Given the description of an element on the screen output the (x, y) to click on. 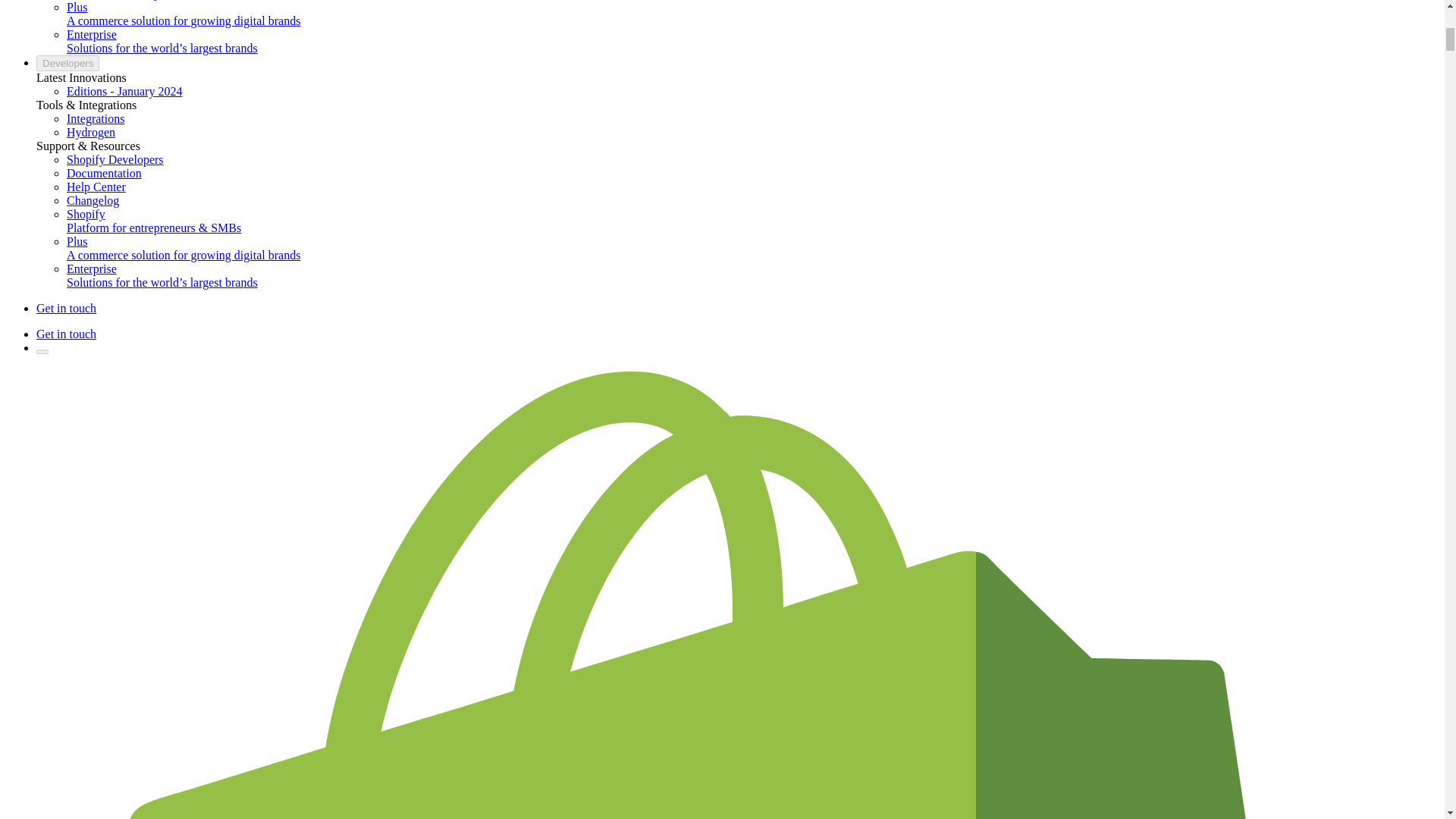
Developers (67, 63)
